Given the description of an element on the screen output the (x, y) to click on. 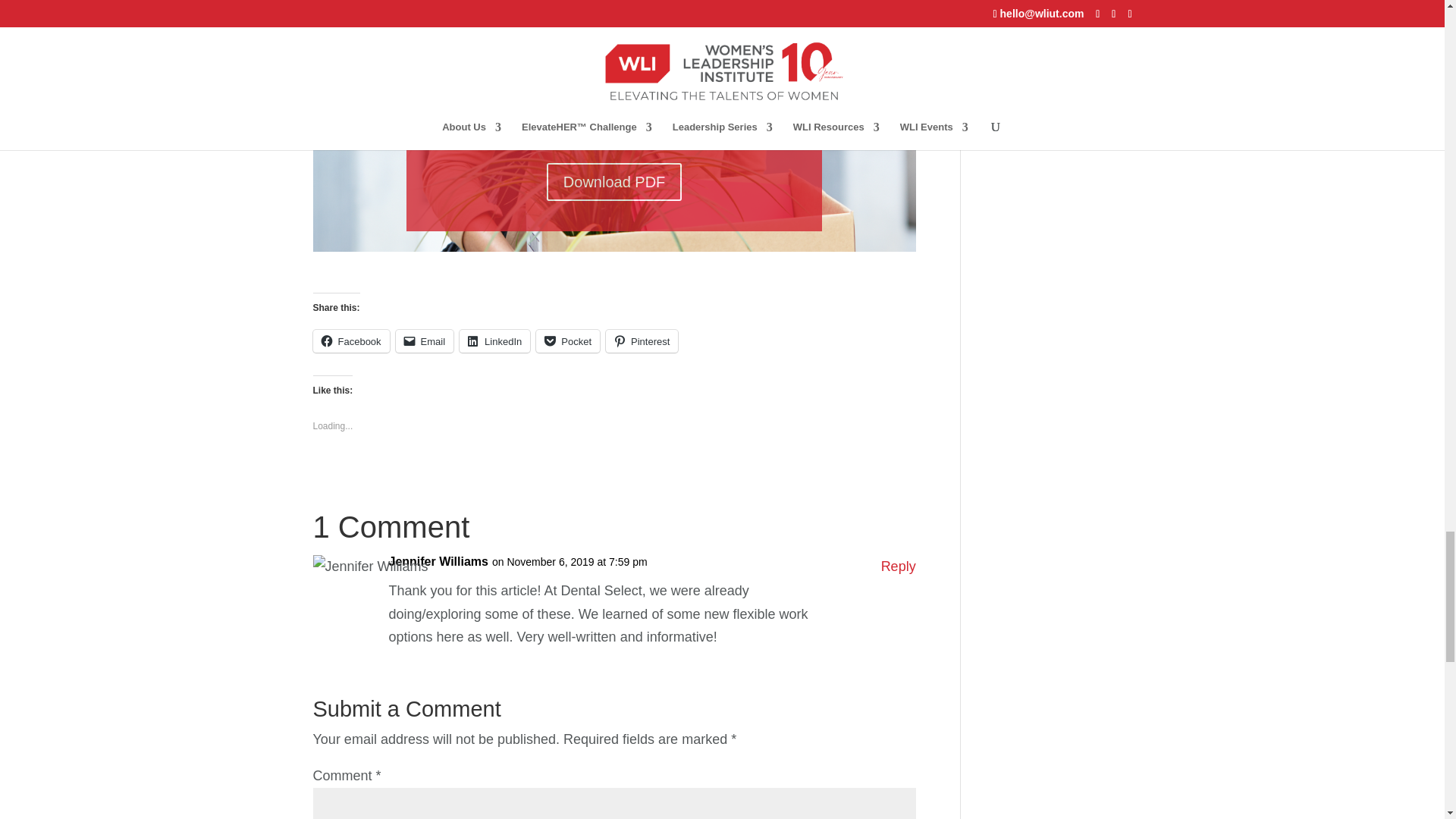
Click to share on Facebook (350, 341)
Click to email a link to a friend (425, 341)
Click to share on LinkedIn (494, 341)
Click to share on Pocket (567, 341)
Click to share on Pinterest (641, 341)
